Given the description of an element on the screen output the (x, y) to click on. 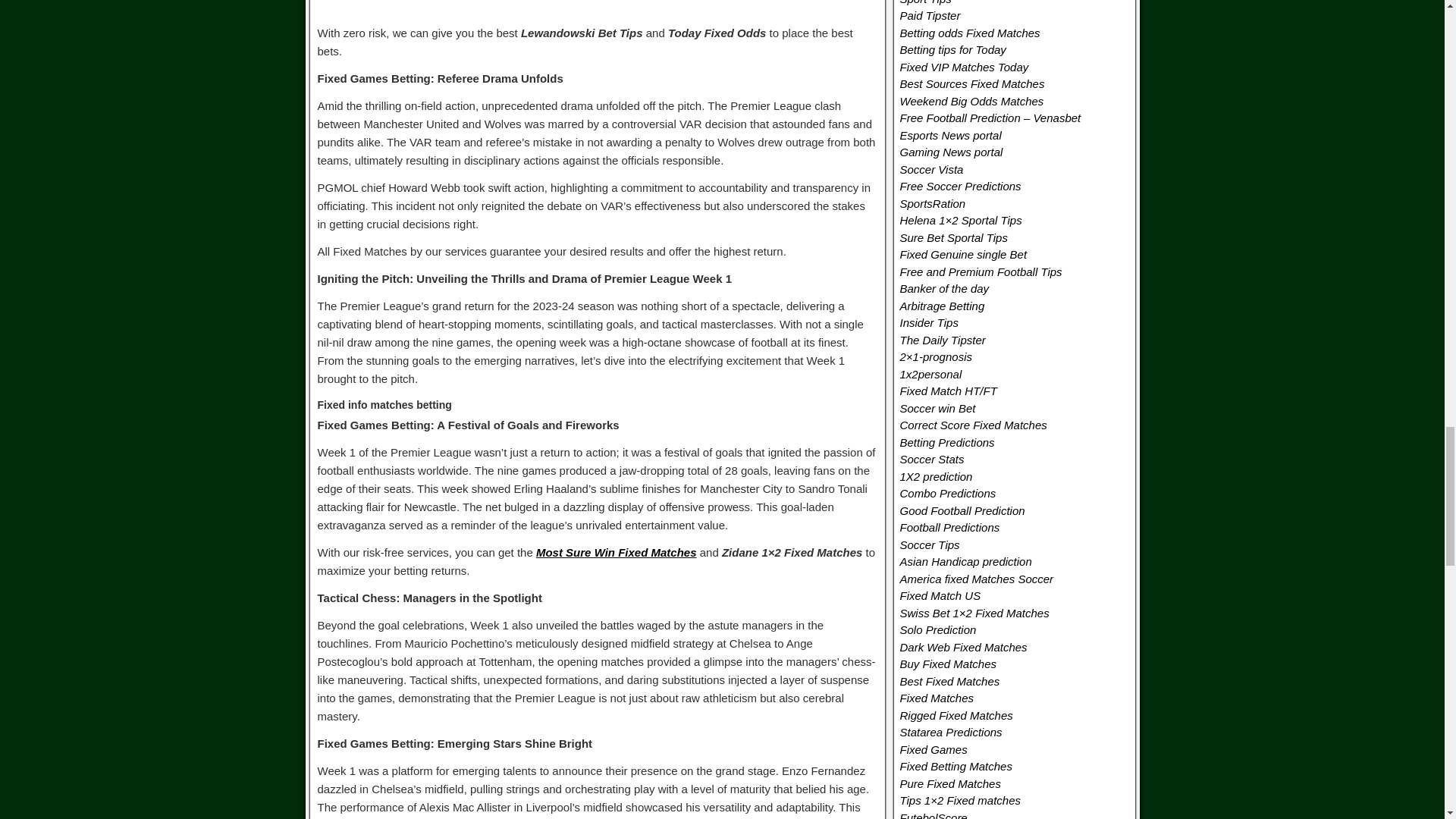
Fixed Games Betting (597, 3)
Most Sure Win Fixed Matches (616, 552)
